Given the description of an element on the screen output the (x, y) to click on. 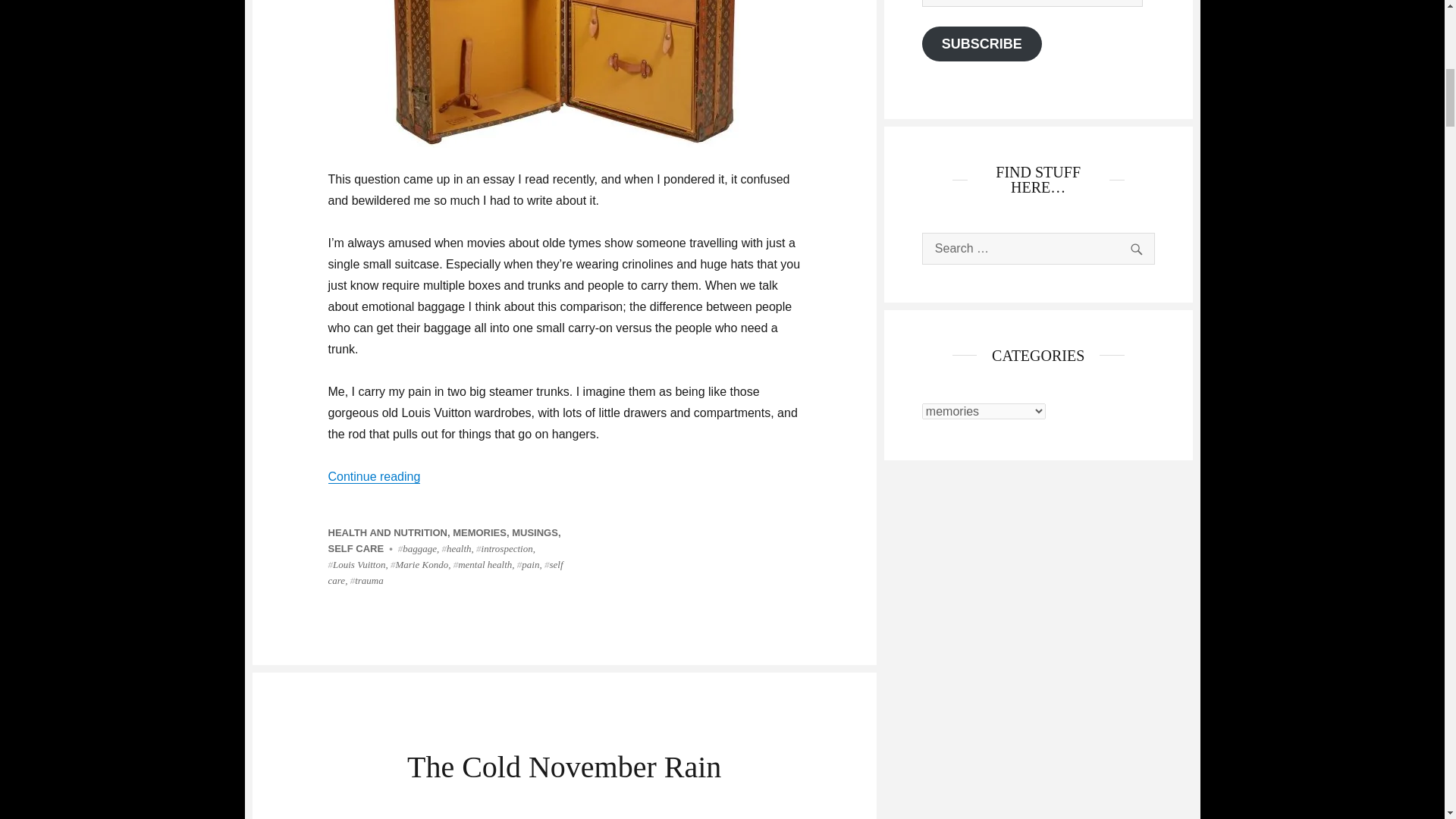
Louis Vuitton (356, 564)
health (456, 548)
Marie Kondo (419, 564)
pain (528, 564)
MEMORIES (479, 532)
introspection (504, 548)
baggage (416, 548)
self care (444, 572)
The Cold November Rain (563, 766)
MUSINGS (534, 532)
mental health (482, 564)
SELF CARE (355, 548)
HEALTH AND NUTRITION (386, 532)
trauma (367, 580)
